Given the description of an element on the screen output the (x, y) to click on. 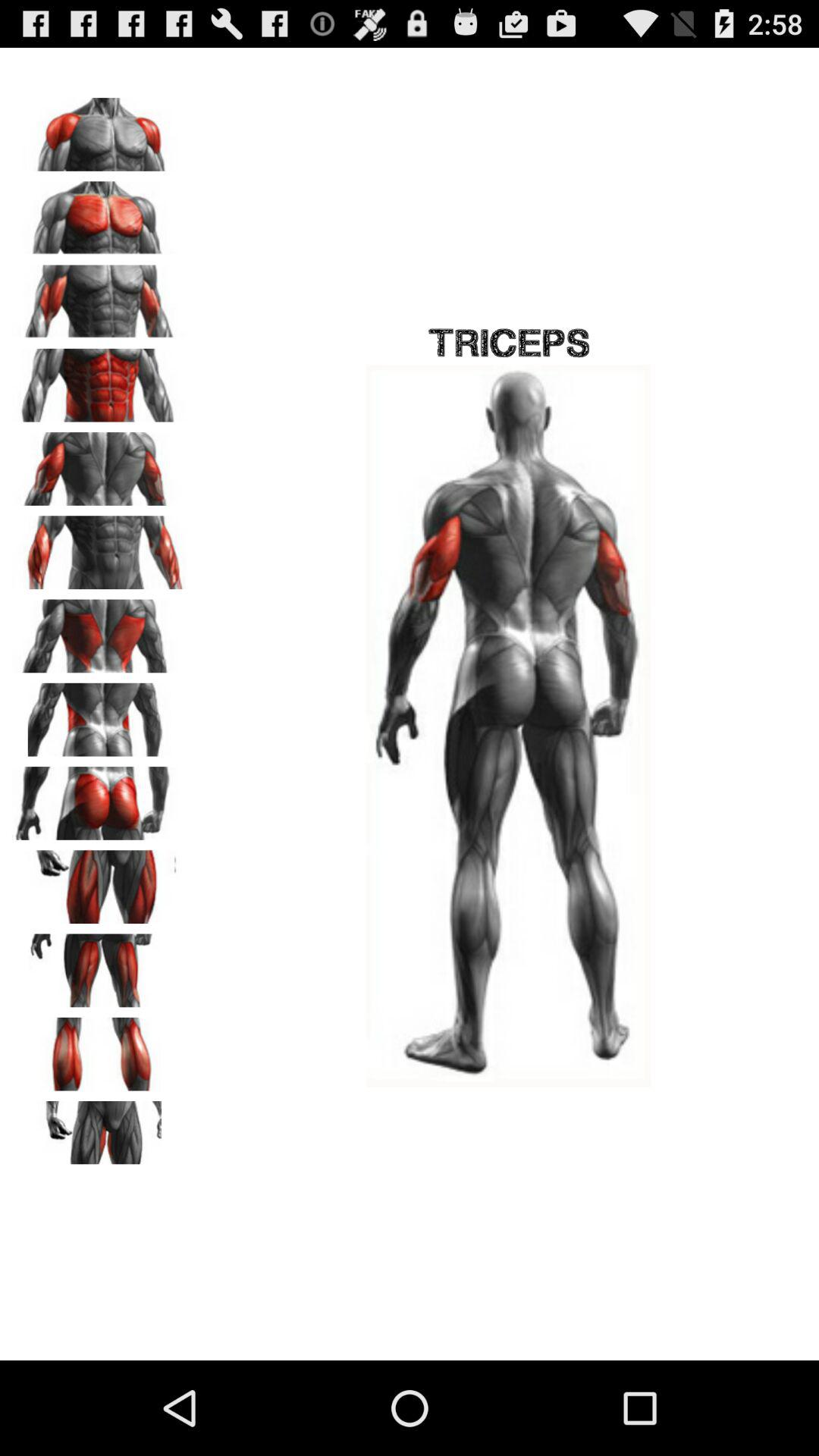
select biceps (99, 296)
